Given the description of an element on the screen output the (x, y) to click on. 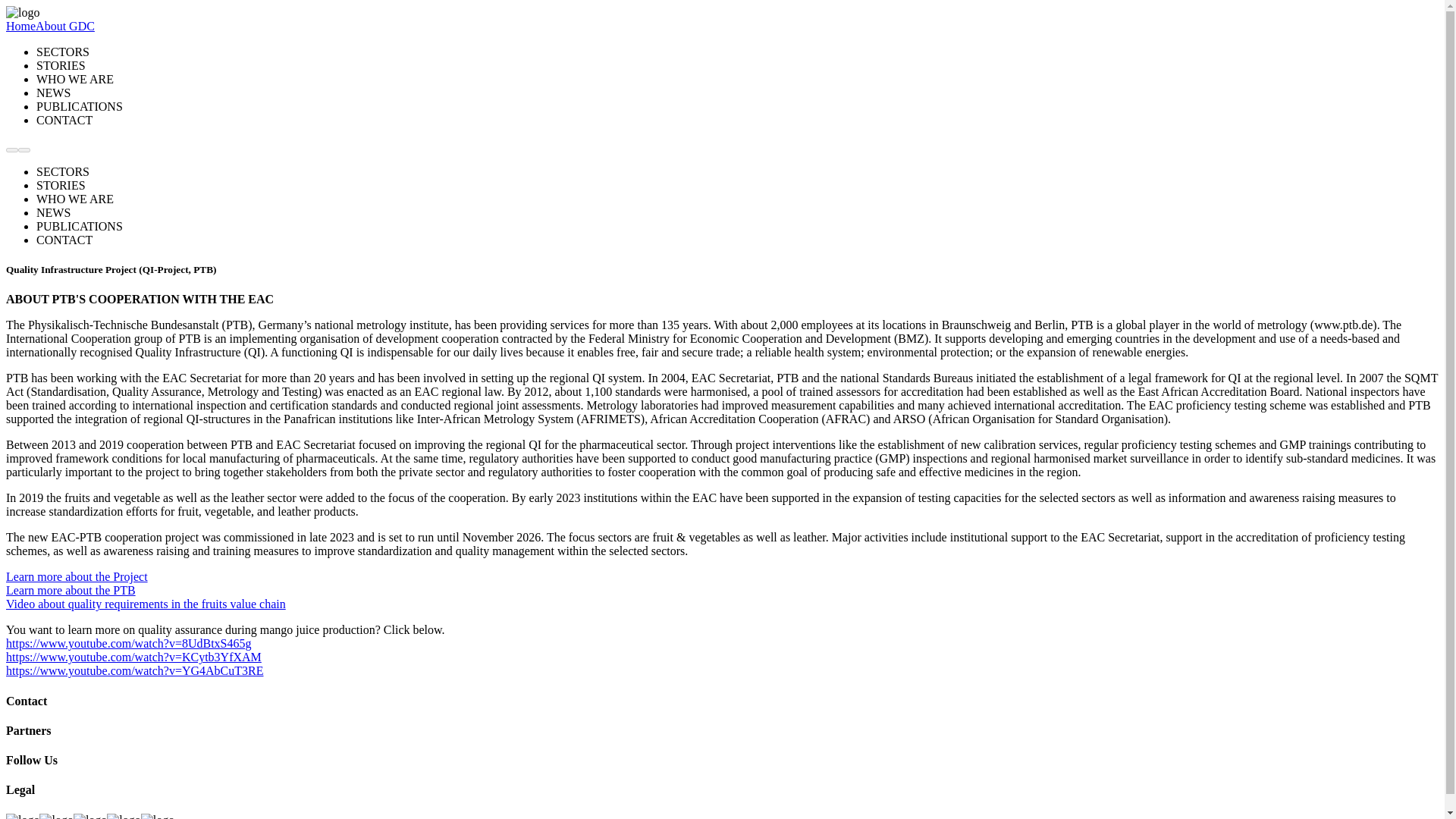
Learn more about the PTB (70, 590)
Home (19, 25)
About GDC (64, 25)
Learn more about the Project (76, 576)
Video about quality requirements in the fruits value chain (145, 603)
